Given the description of an element on the screen output the (x, y) to click on. 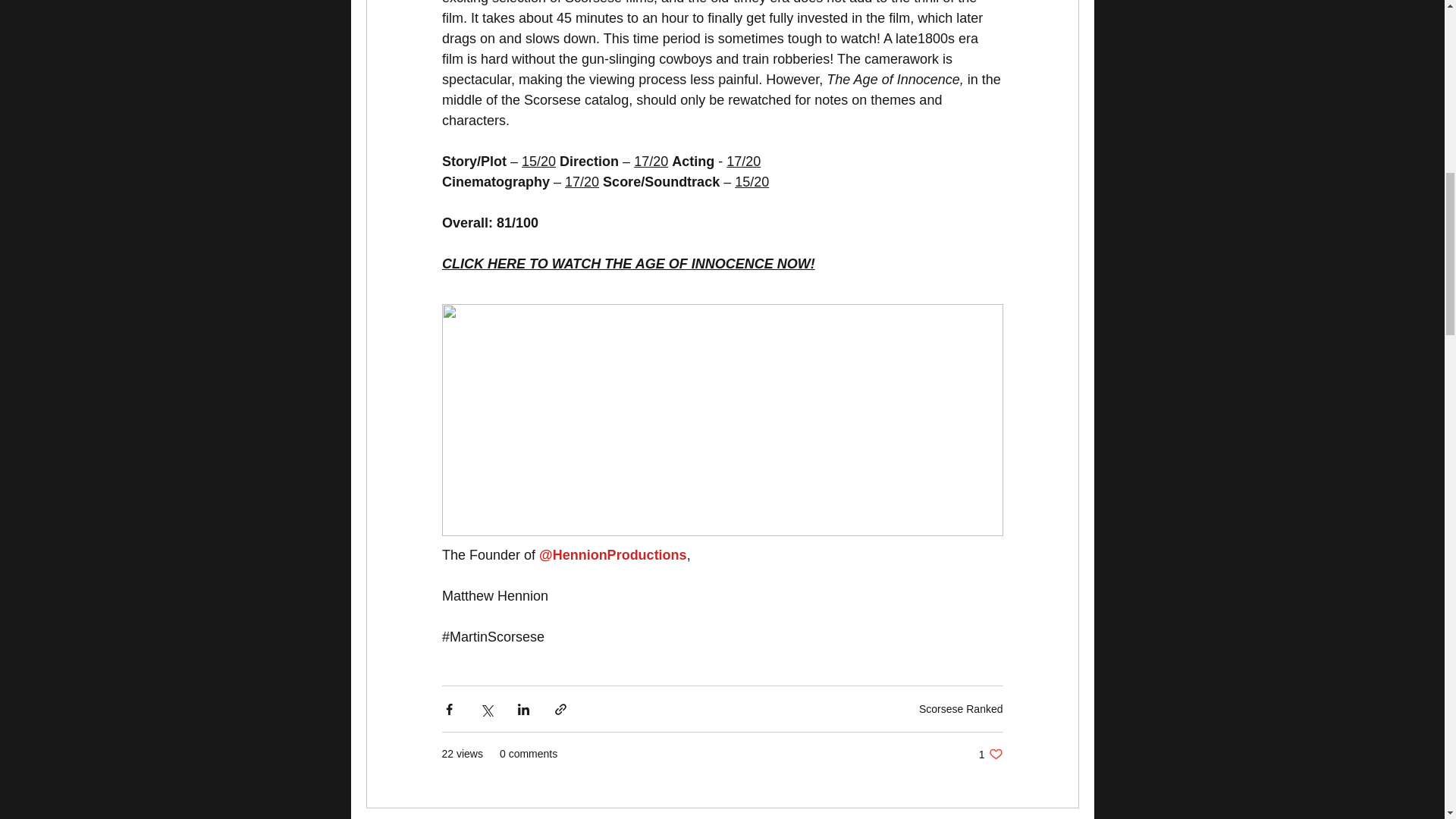
MartinScorses (493, 636)
CLICK HERE TO WATCH THE AGE OF INNOCENCE NOW! (990, 753)
Scorsese Ranked (627, 263)
